Given the description of an element on the screen output the (x, y) to click on. 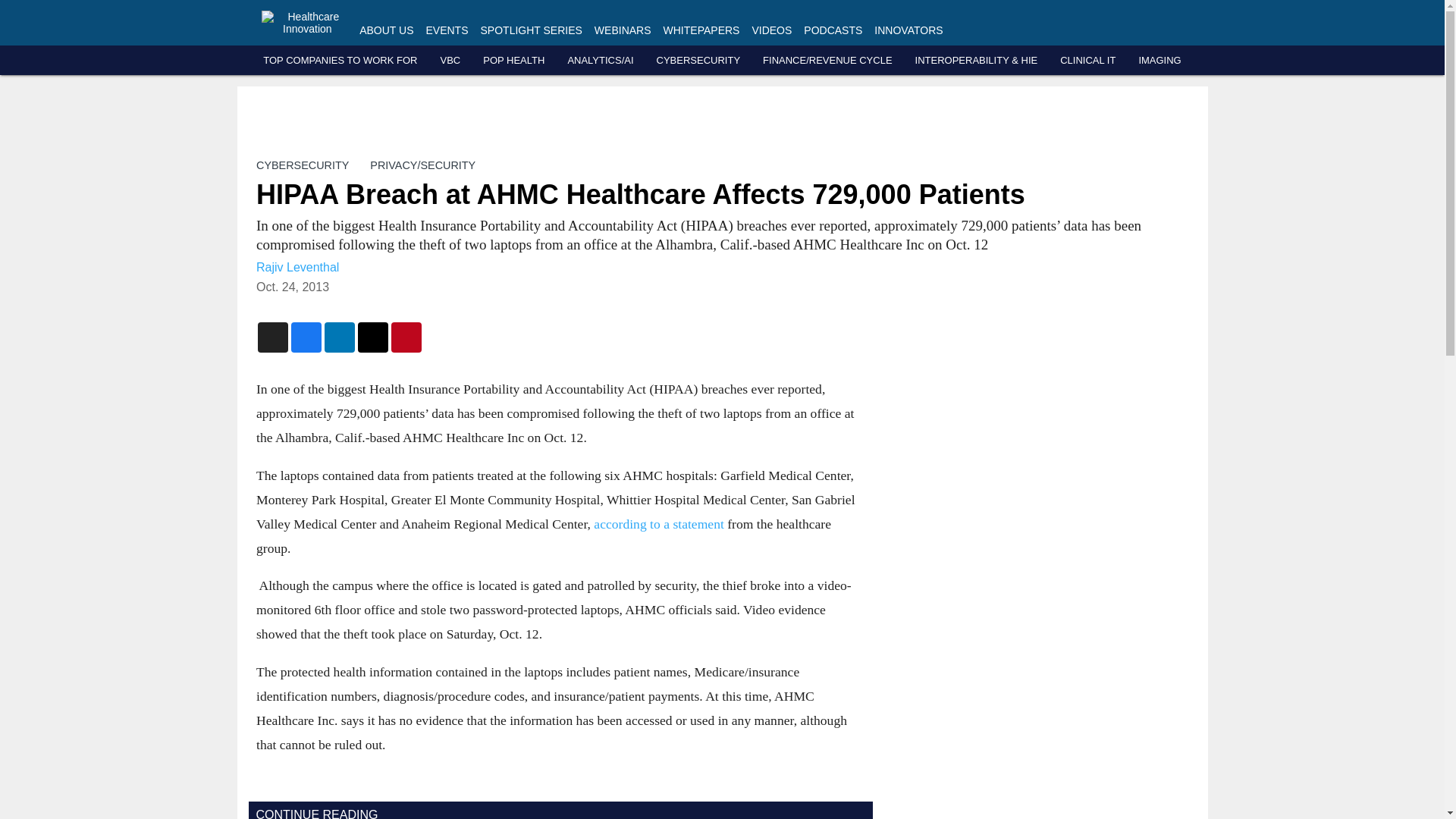
PODCASTS (832, 30)
Rajiv Leventhal (297, 267)
SPOTLIGHT SERIES (531, 30)
INNOVATORS (908, 30)
VBC (449, 60)
CYBERSECURITY (302, 164)
CYBERSECURITY (698, 60)
VIDEOS (771, 30)
CLINICAL IT (1087, 60)
IMAGING (1159, 60)
